Given the description of an element on the screen output the (x, y) to click on. 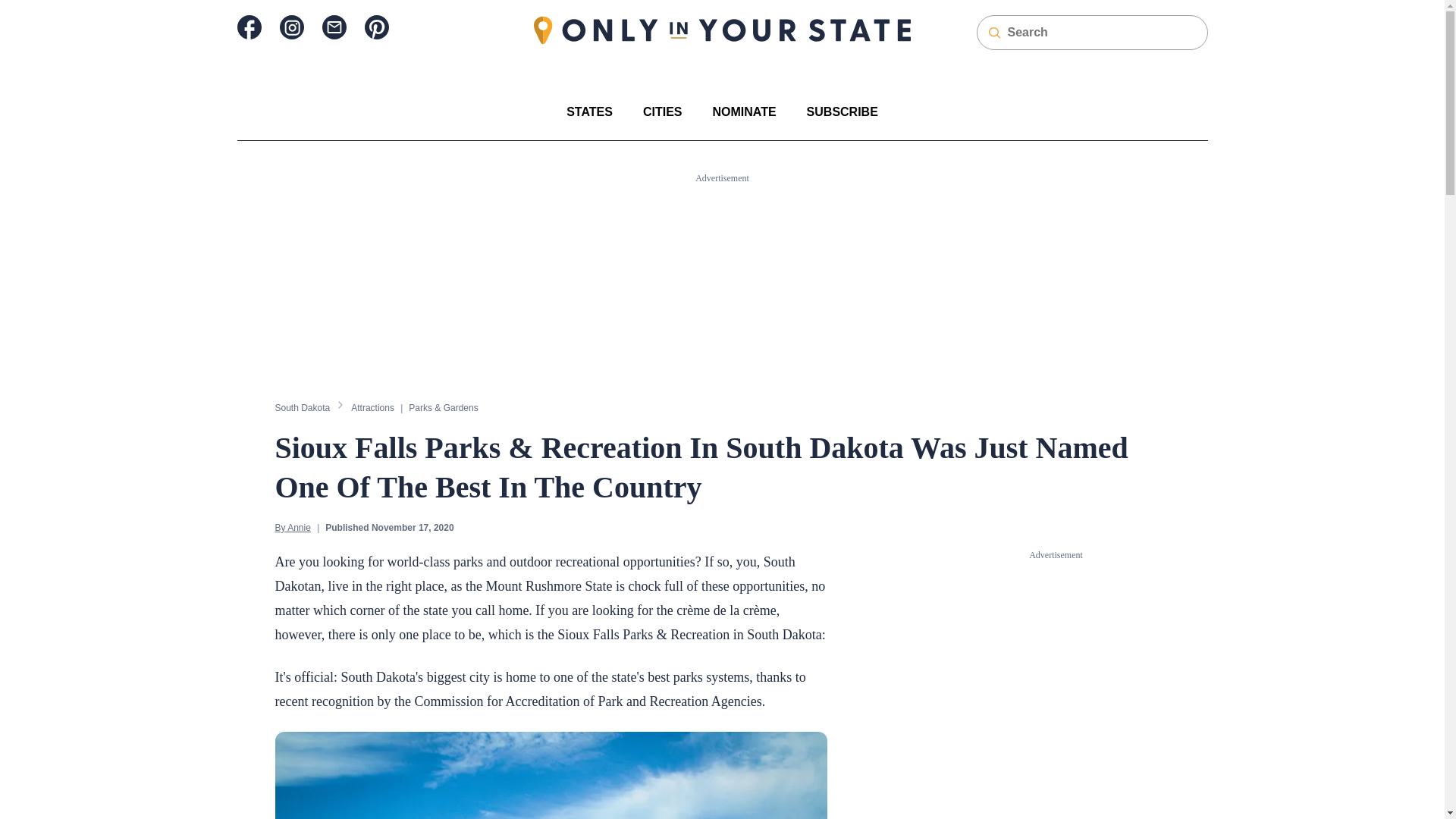
Only in Your State (722, 30)
Search (21, 7)
newsletter (333, 27)
Attractions (372, 407)
pinterest (376, 27)
facebook (247, 27)
STATES (589, 111)
instagram (290, 27)
